Given the description of an element on the screen output the (x, y) to click on. 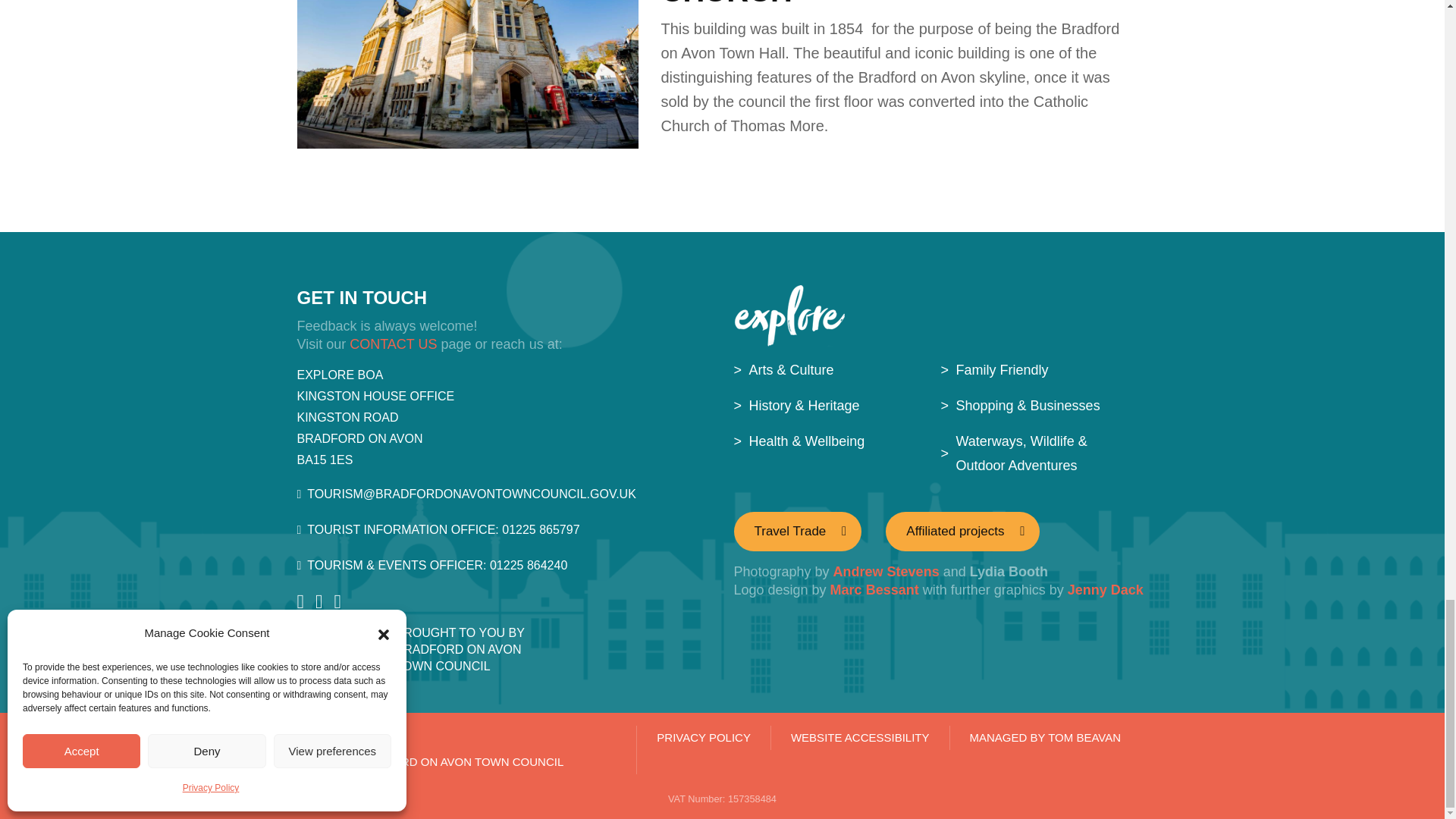
TOURIST INFORMATION OFFICE: 01225 865797 (504, 529)
CONTACT US (392, 344)
Website design Bath (1035, 749)
